Given the description of an element on the screen output the (x, y) to click on. 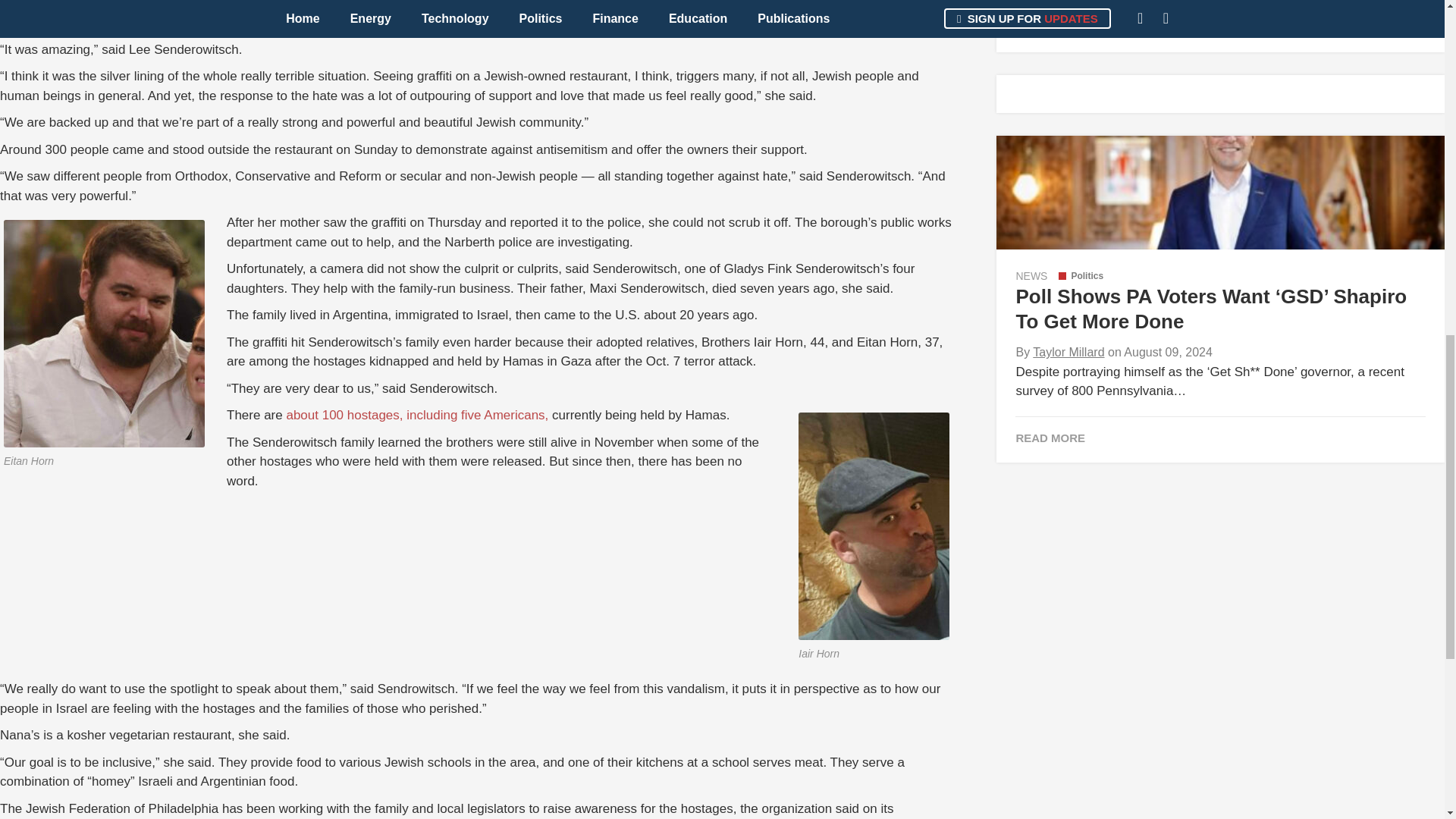
Posts by Taylor Millard (1067, 351)
View all posts in Politics (1080, 276)
READ MORE (1219, 437)
about 100 hostages, including five Americans, (416, 414)
Taylor Millard (1067, 351)
Politics (1080, 276)
READ MORE (1219, 27)
